Given the description of an element on the screen output the (x, y) to click on. 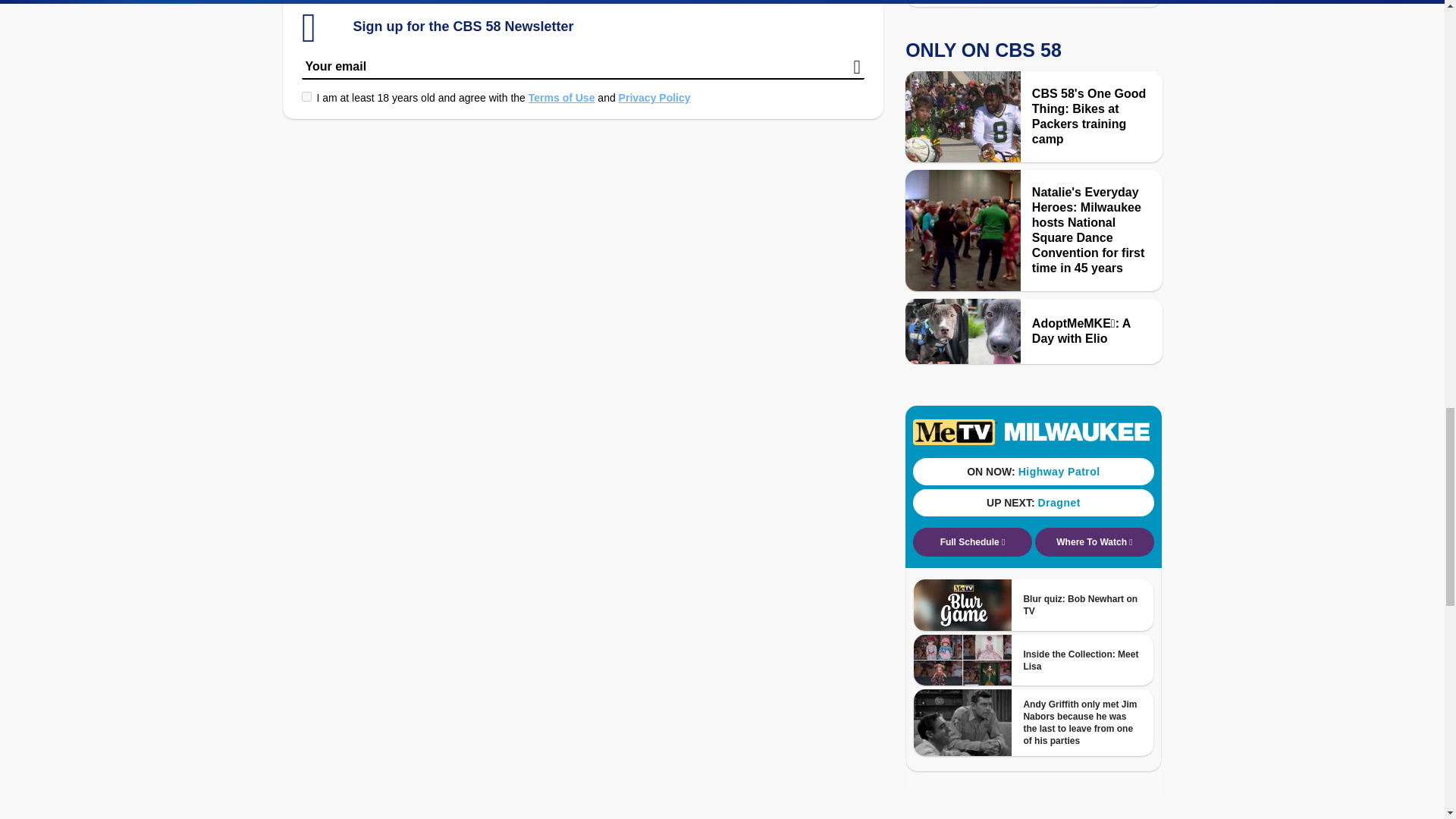
on (306, 96)
